Given the description of an element on the screen output the (x, y) to click on. 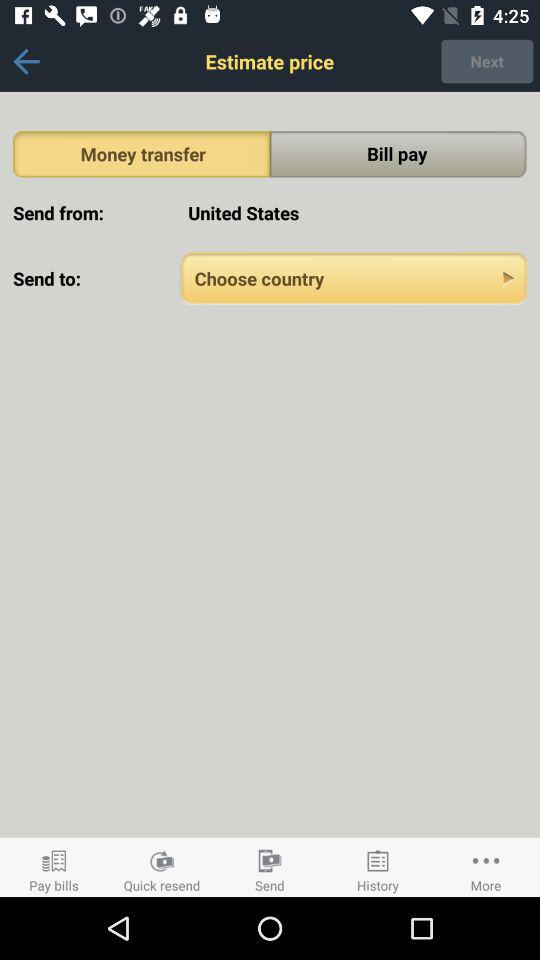
choose the item above the money transfer item (26, 61)
